Given the description of an element on the screen output the (x, y) to click on. 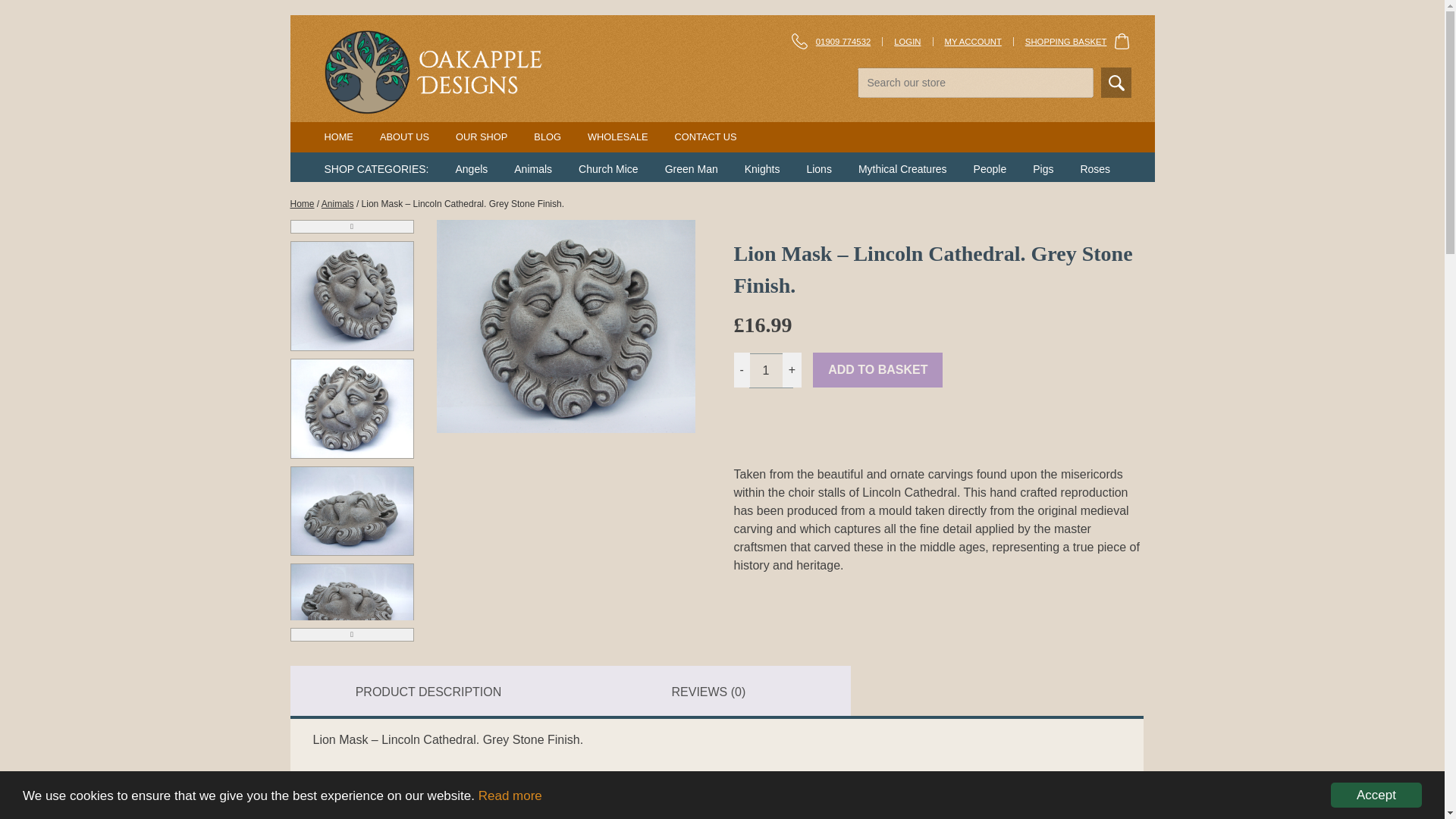
OUR SHOP (480, 136)
Lion Mask stone 4 (351, 605)
SHOPPING BASKET (1077, 40)
ABOUT US (404, 136)
Roses (1094, 168)
ADD TO BASKET (877, 369)
Pigs (1042, 168)
PRODUCT DESCRIPTION (428, 692)
MY ACCOUNT (973, 40)
CONTACT US (705, 136)
HOME (338, 136)
BLOG (547, 136)
01909 774532 (843, 40)
Knights (762, 168)
Church Mice (608, 168)
